Given the description of an element on the screen output the (x, y) to click on. 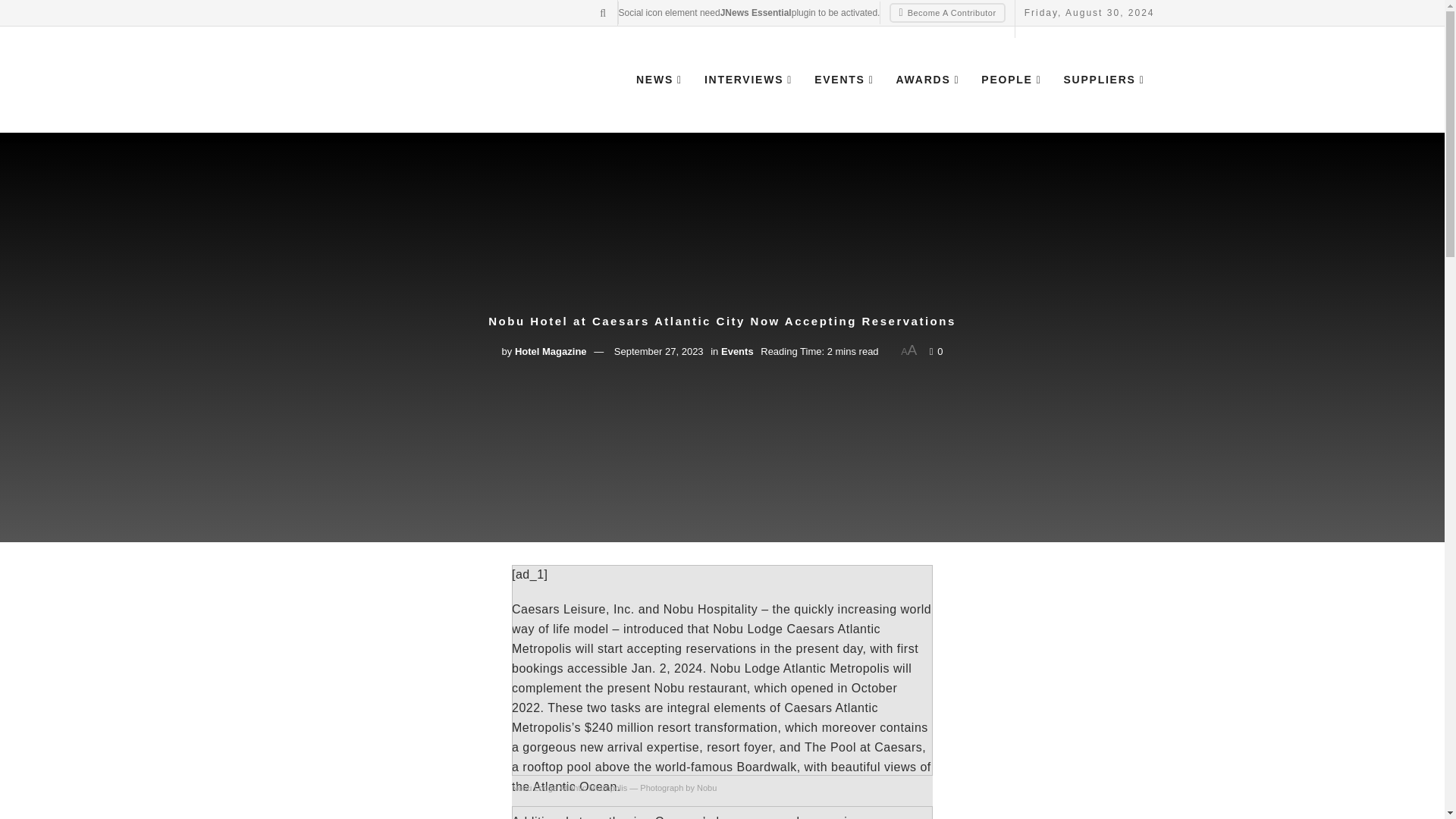
INTERVIEWS (747, 79)
EVENTS (842, 79)
Become A Contributor (946, 12)
NEWS (658, 79)
